Given the description of an element on the screen output the (x, y) to click on. 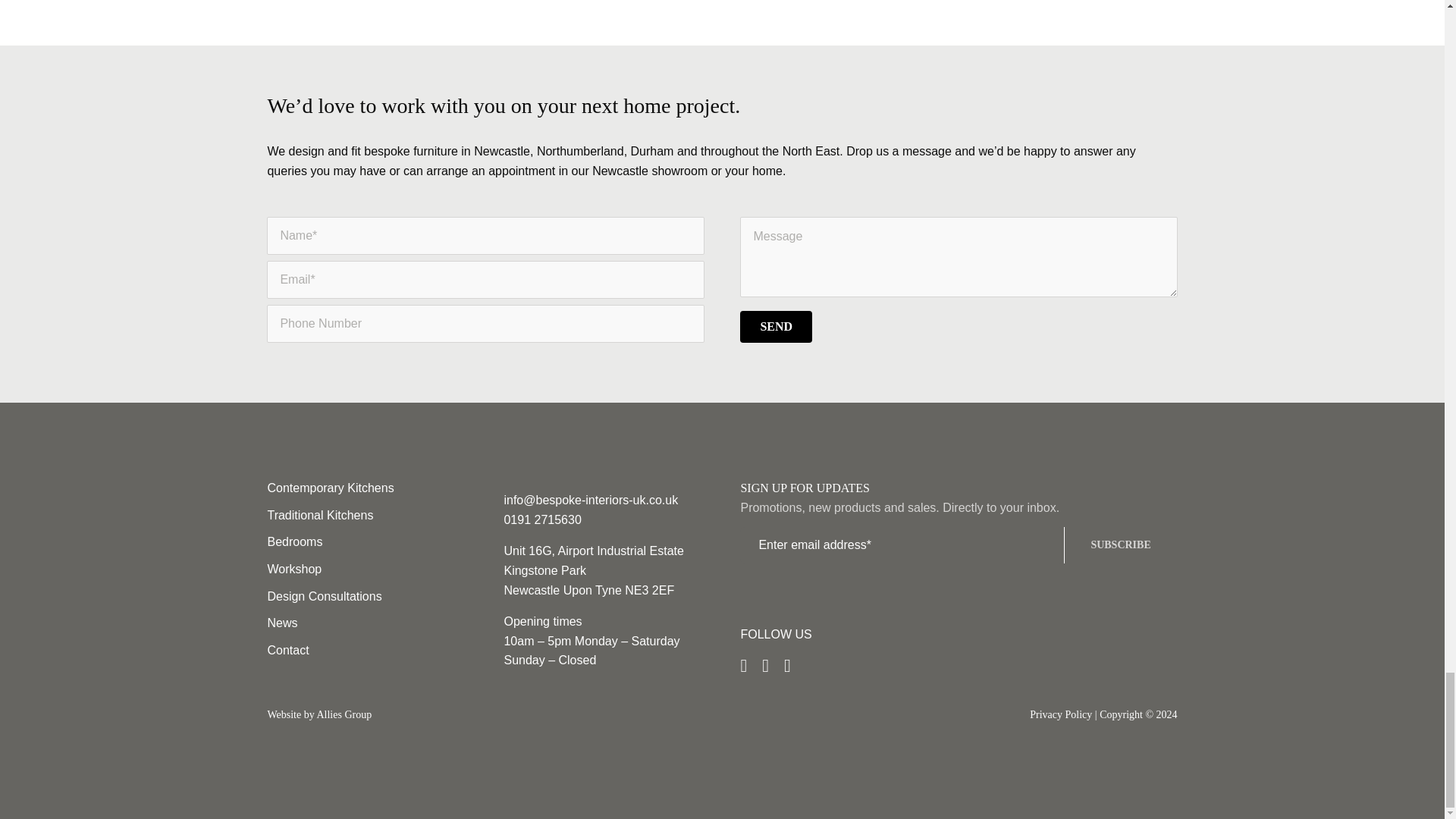
Traditional Kitchens (366, 515)
SEND (775, 327)
Workshop (366, 569)
Bedrooms (366, 542)
Contemporary Kitchens (366, 487)
SUBSCRIBE (957, 554)
SEND (721, 287)
